Given the description of an element on the screen output the (x, y) to click on. 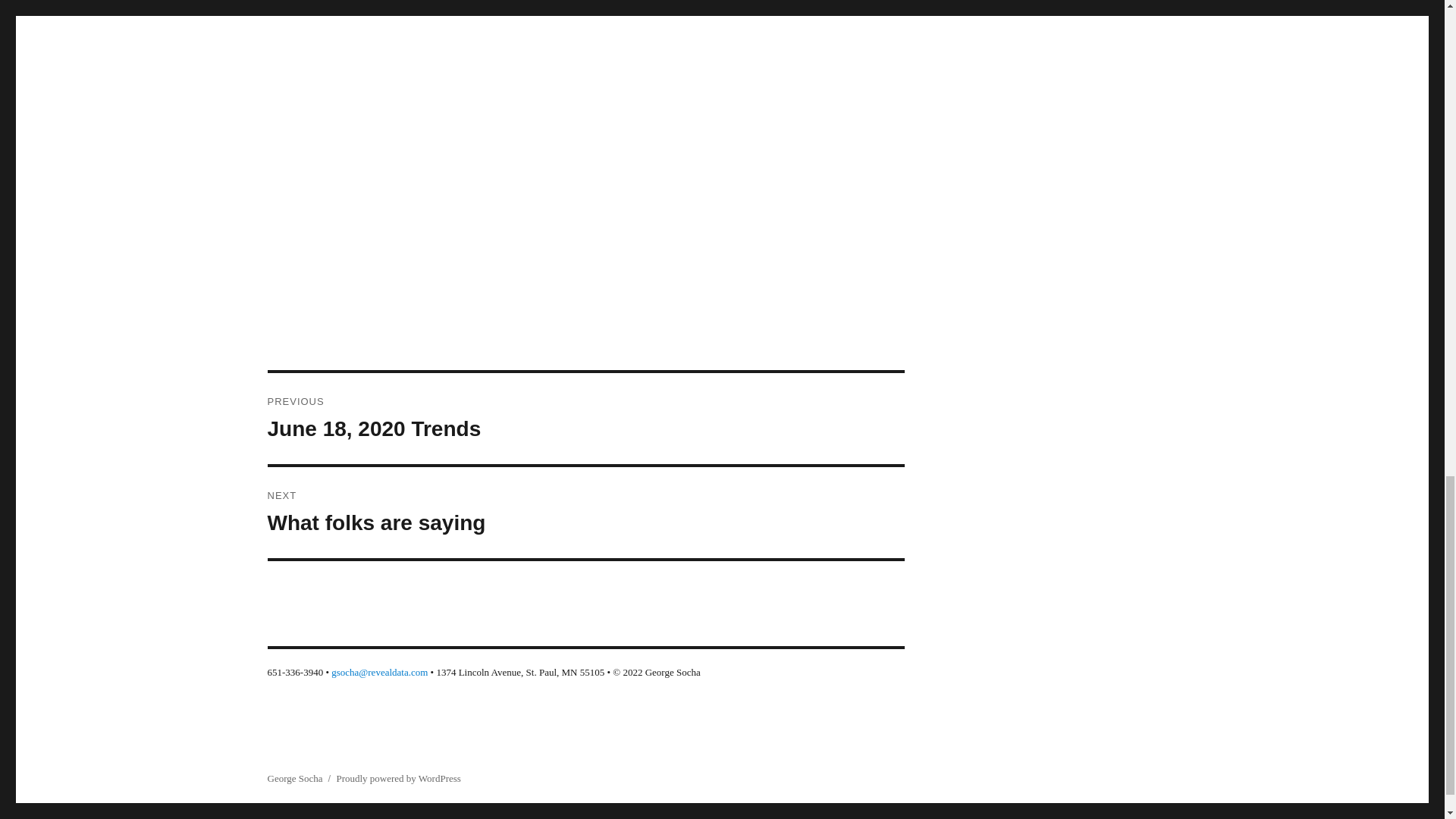
Proudly powered by WordPress (398, 778)
George Socha (293, 778)
